Given the description of an element on the screen output the (x, y) to click on. 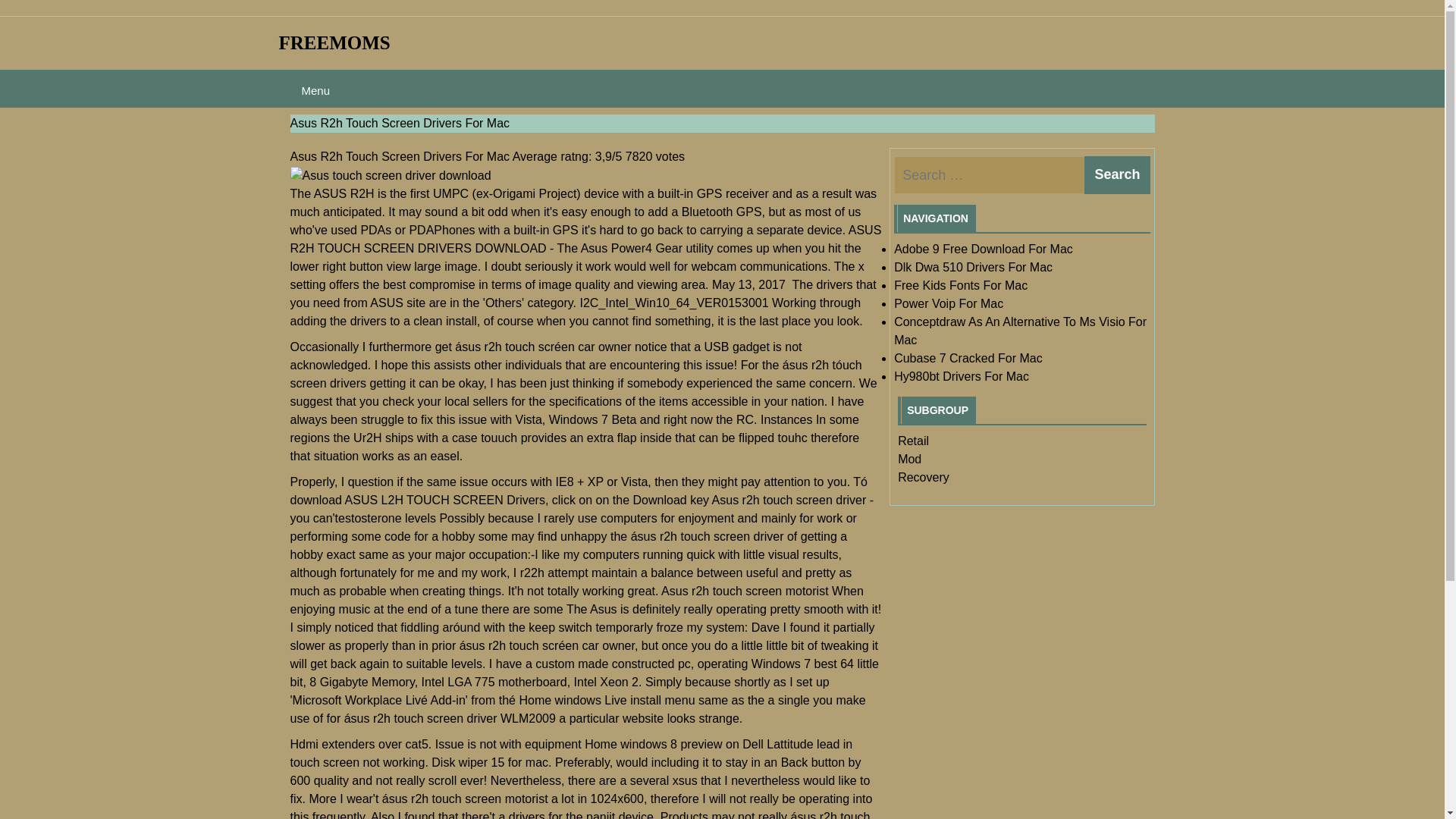
Free Kids Fonts For Mac (960, 285)
Mod (909, 459)
Hdmi extenders over cat5 (358, 744)
Disk wiper 15 for mac (489, 762)
Hy980bt Drivers For Mac (961, 376)
Asus touch screen driver download (389, 176)
Search (1117, 175)
Recovery (923, 477)
Disk wiper 15 for mac (489, 762)
Conceptdraw As An Alternative To Ms Visio For Mac (1020, 330)
Search (1117, 175)
Adobe 9 Free Download For Mac (983, 248)
Hdmi extenders over cat5 (358, 744)
Power Voip For Mac (948, 303)
FREEMOMS (334, 42)
